Given the description of an element on the screen output the (x, y) to click on. 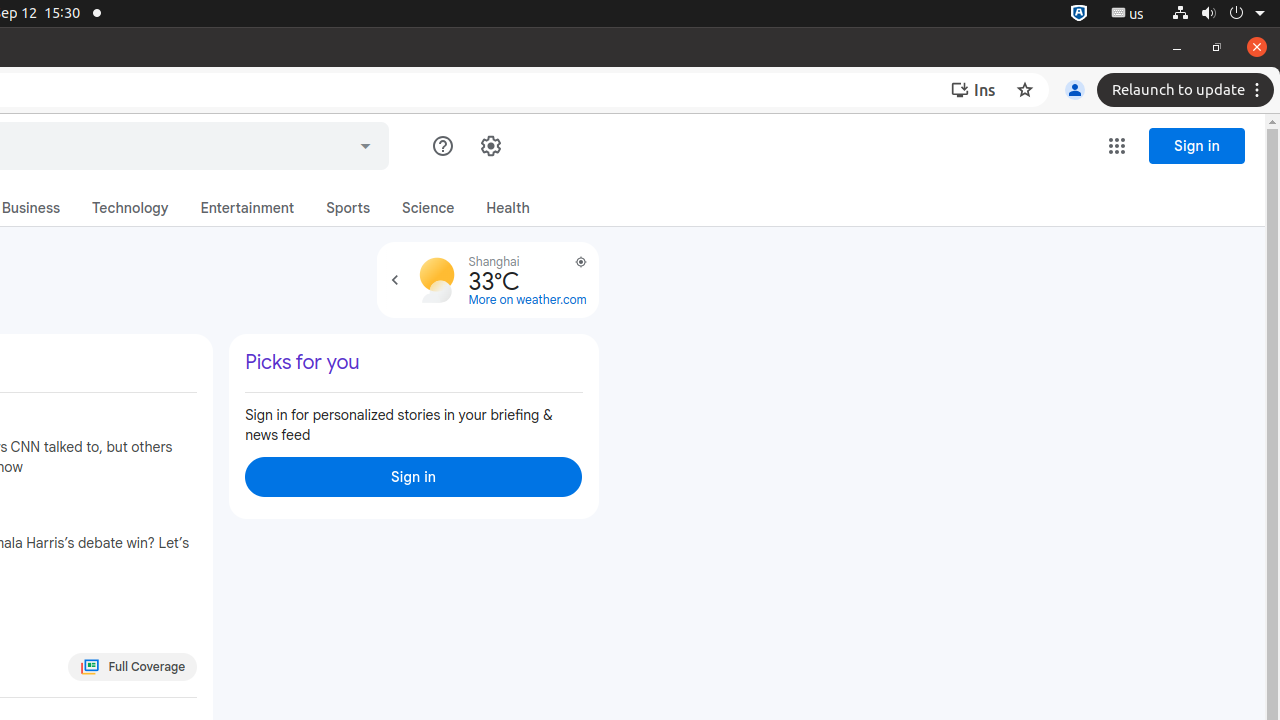
Sign in Element type: push-button (414, 477)
Sports Element type: menu-item (348, 208)
More on weather.com Element type: link (527, 300)
Science Element type: menu-item (428, 208)
:1.72/StatusNotifierItem Element type: menu (1079, 13)
